Given the description of an element on the screen output the (x, y) to click on. 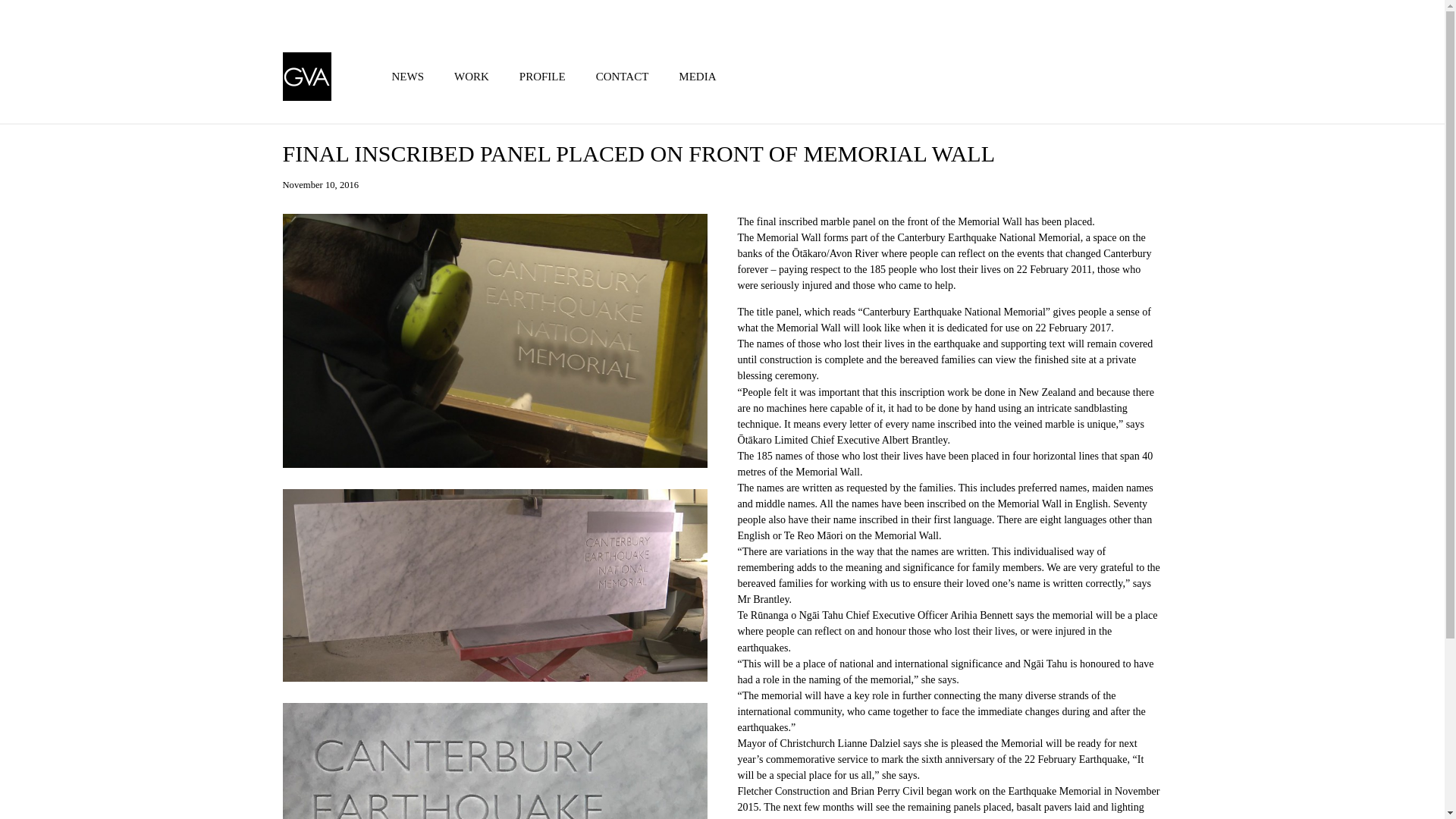
MEDIA (696, 76)
NEWS (407, 76)
Facebook (1101, 14)
Instagram (1125, 14)
CONTACT (621, 76)
PROFILE (541, 76)
WORK (471, 76)
Twitter (1149, 14)
